Given the description of an element on the screen output the (x, y) to click on. 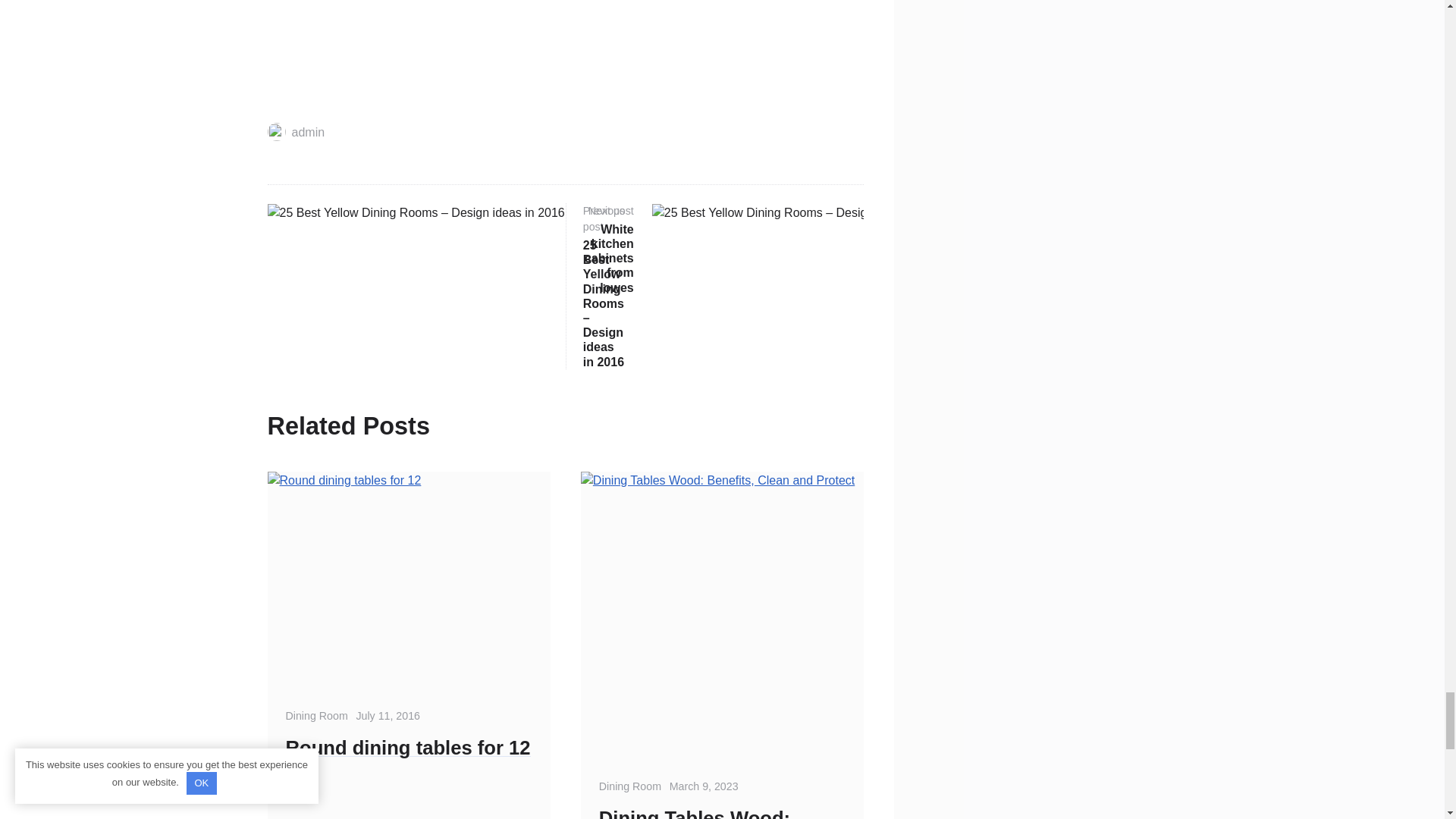
July 11, 2016 (387, 715)
Round dining tables for 12 (408, 747)
Dining Room (316, 715)
admin (295, 132)
